Given the description of an element on the screen output the (x, y) to click on. 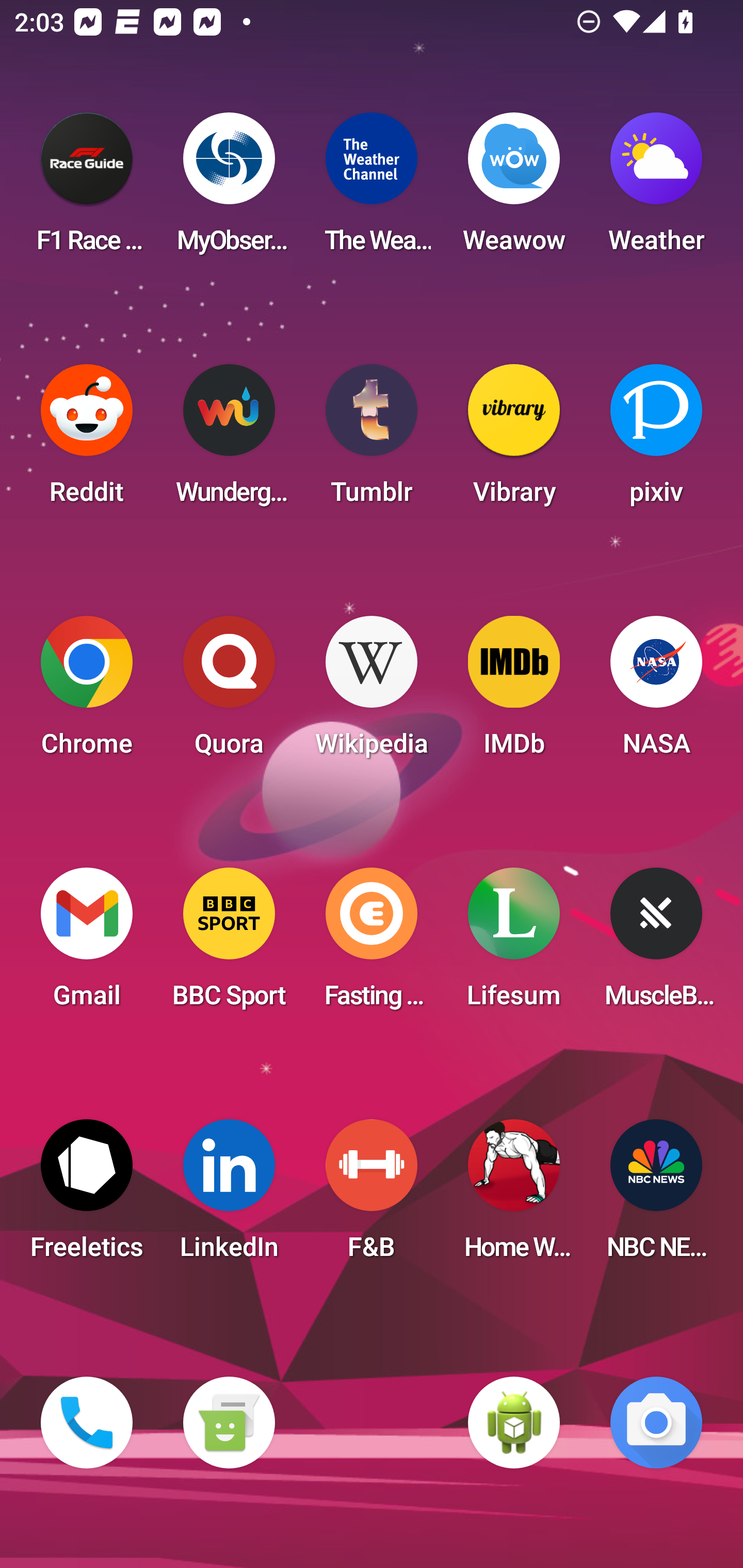
F1 Race Guide (86, 188)
MyObservatory (228, 188)
The Weather Channel (371, 188)
Weawow (513, 188)
Weather (656, 188)
Reddit (86, 440)
Wunderground (228, 440)
Tumblr (371, 440)
Vibrary (513, 440)
pixiv (656, 440)
Chrome (86, 692)
Quora (228, 692)
Wikipedia (371, 692)
IMDb (513, 692)
NASA (656, 692)
Gmail (86, 943)
BBC Sport (228, 943)
Fasting Coach (371, 943)
Lifesum (513, 943)
MuscleBooster (656, 943)
Freeletics (86, 1195)
LinkedIn (228, 1195)
F&B (371, 1195)
Home Workout (513, 1195)
NBC NEWS (656, 1195)
Phone (86, 1422)
Messaging (228, 1422)
WebView Browser Tester (513, 1422)
Camera (656, 1422)
